Given the description of an element on the screen output the (x, y) to click on. 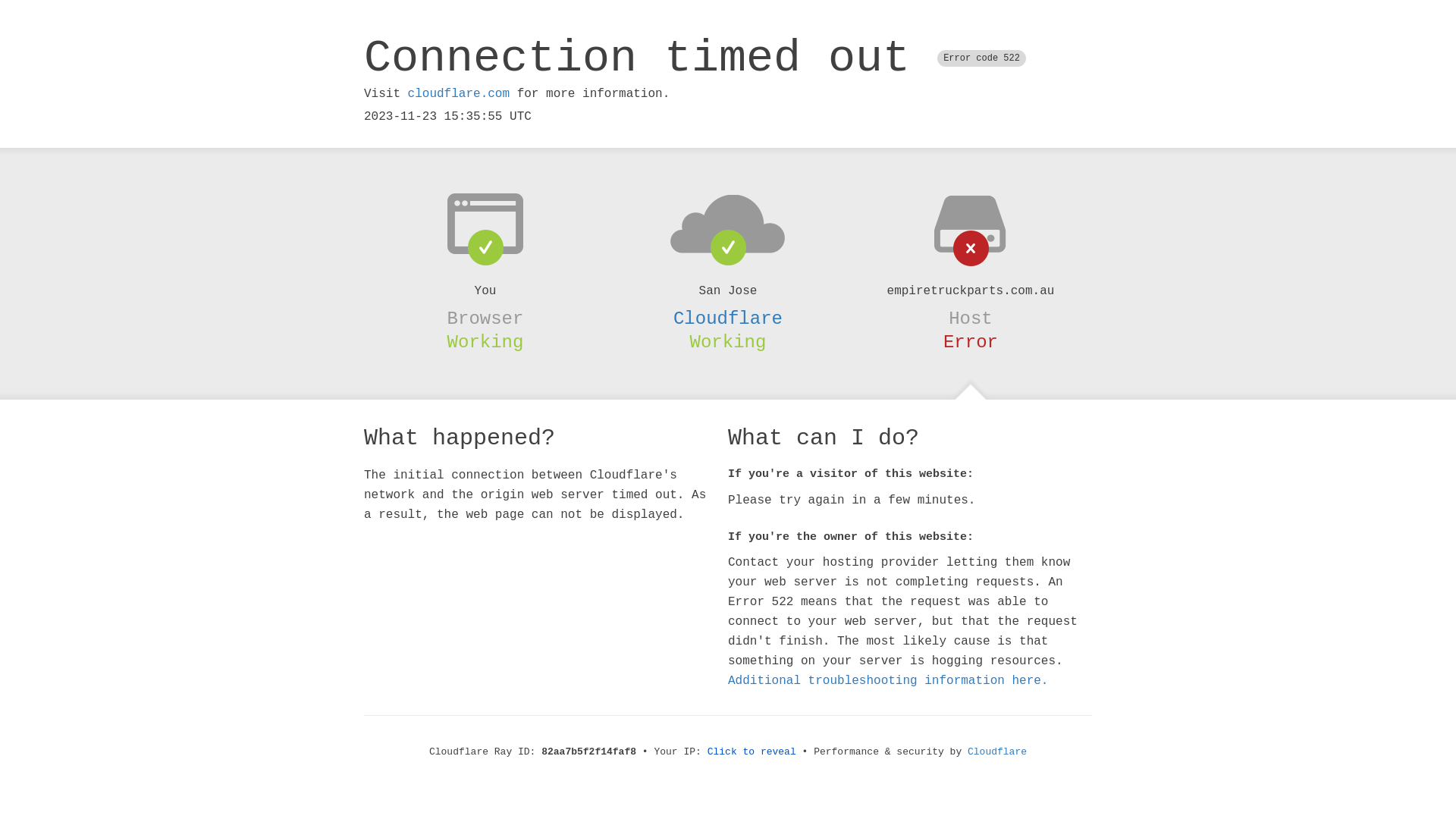
cloudflare.com Element type: text (458, 93)
Cloudflare Element type: text (996, 751)
Click to reveal Element type: text (751, 751)
Additional troubleshooting information here. Element type: text (888, 680)
Cloudflare Element type: text (727, 318)
